Given the description of an element on the screen output the (x, y) to click on. 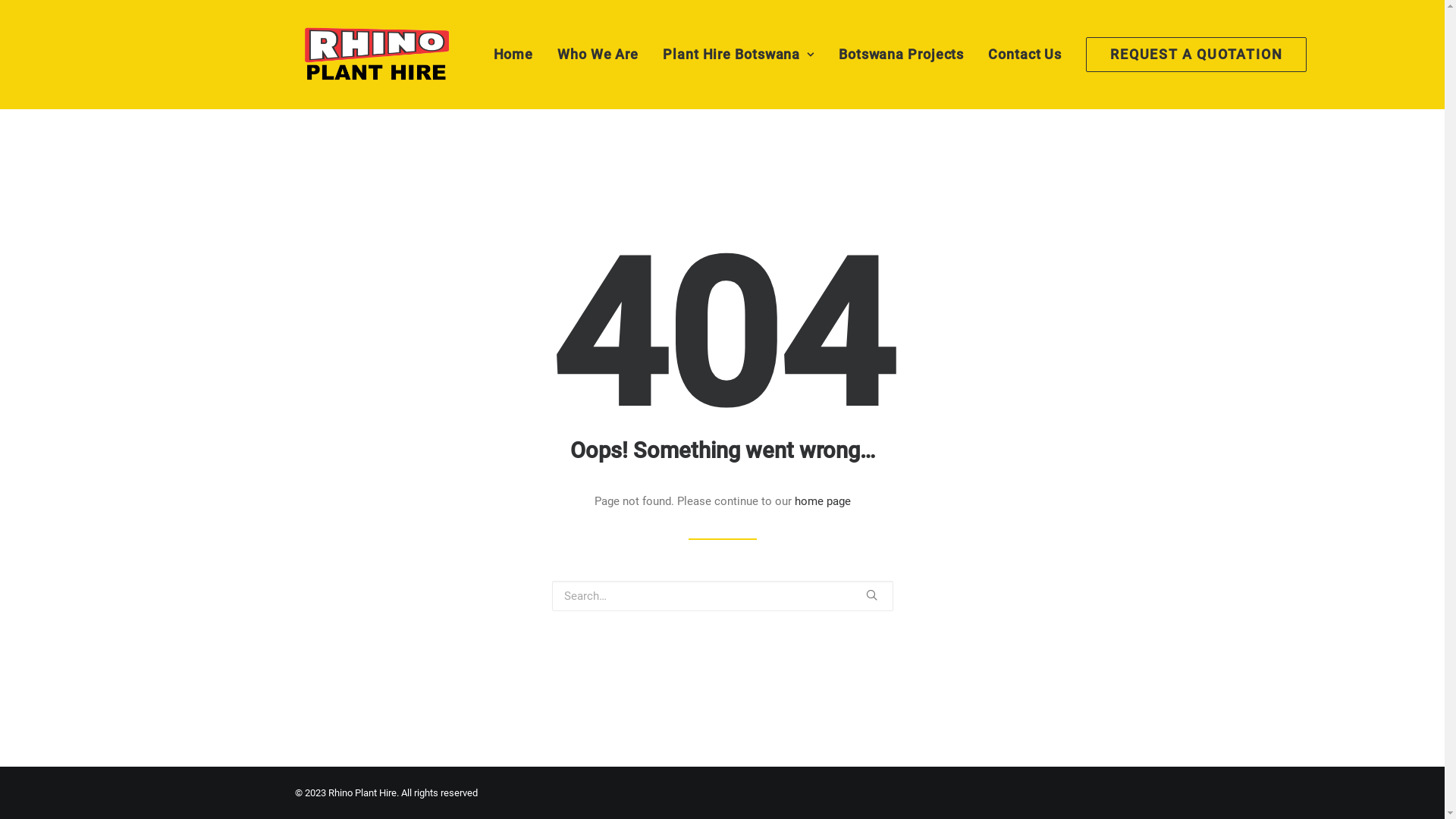
Who We Are Element type: text (597, 54)
home page Element type: text (822, 501)
Search for: Element type: hover (722, 595)
REQUEST A QUOTATION Element type: text (1190, 54)
Home Element type: text (518, 54)
Botswana Projects Element type: text (901, 54)
Plant Hire Botswana Element type: text (738, 54)
Contact Us Element type: text (1024, 54)
